Given the description of an element on the screen output the (x, y) to click on. 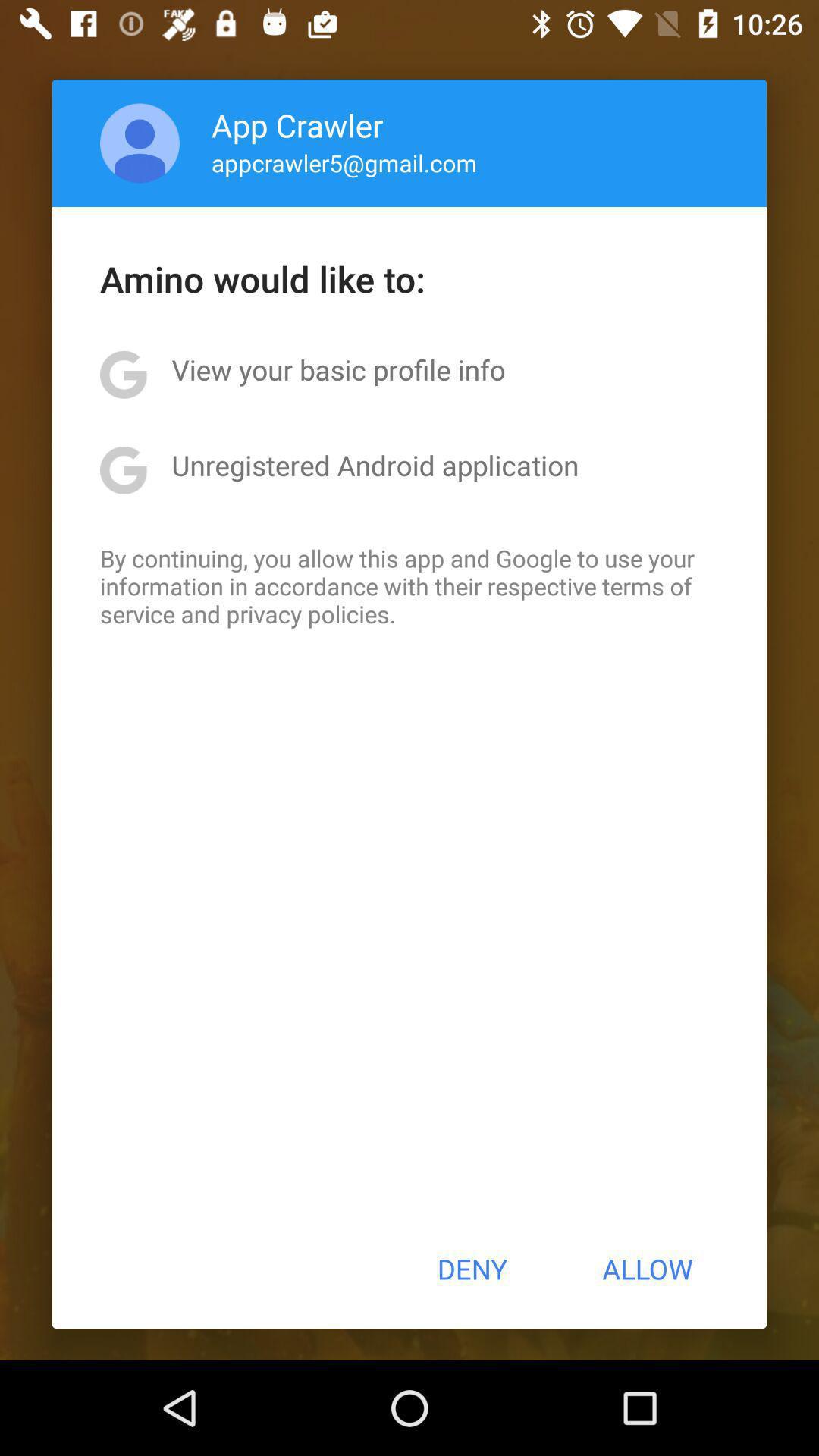
turn off the item to the left of allow button (471, 1268)
